Given the description of an element on the screen output the (x, y) to click on. 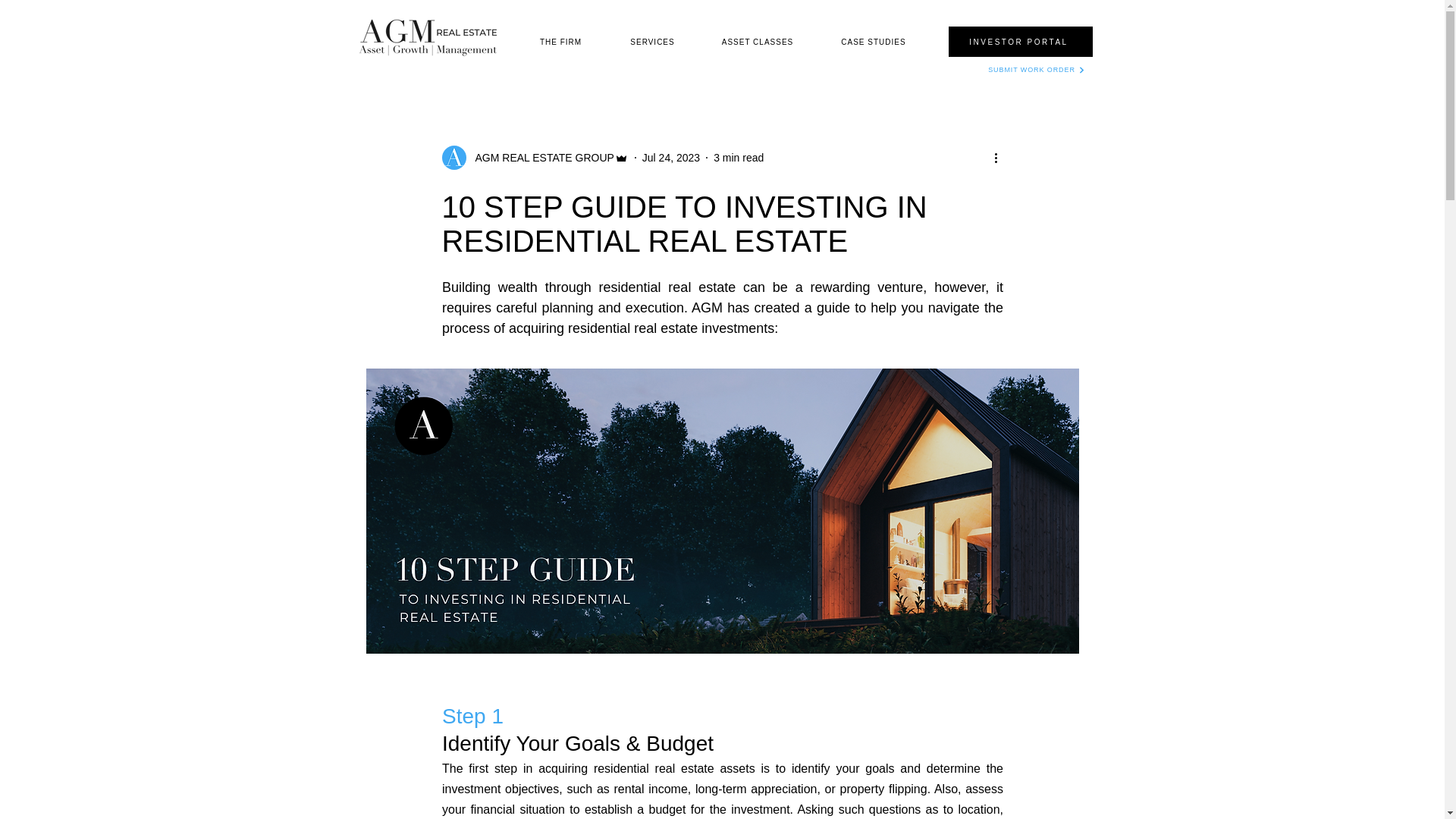
ASSET CLASSES (758, 41)
THE FIRM (561, 41)
SERVICES (654, 41)
AGM REAL ESTATE GROUP (534, 157)
CASE STUDIES (875, 41)
Jul 24, 2023 (671, 157)
INVESTOR PORTAL (1019, 41)
SUBMIT WORK ORDER (1035, 69)
AGM REAL ESTATE GROUP (538, 157)
3 min read (737, 157)
